Given the description of an element on the screen output the (x, y) to click on. 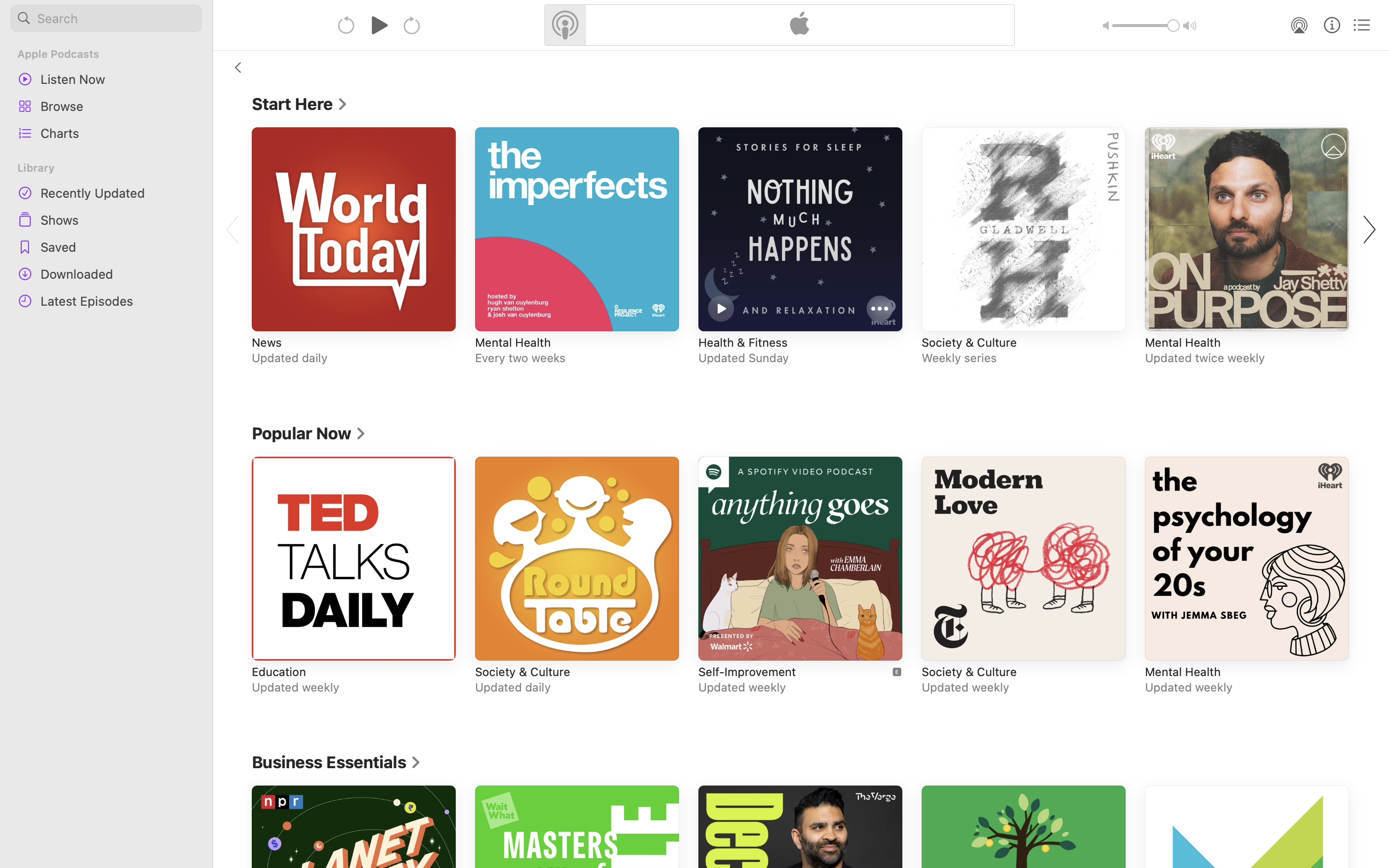
1.0 Element type: AXSlider (1145, 25)
